Given the description of an element on the screen output the (x, y) to click on. 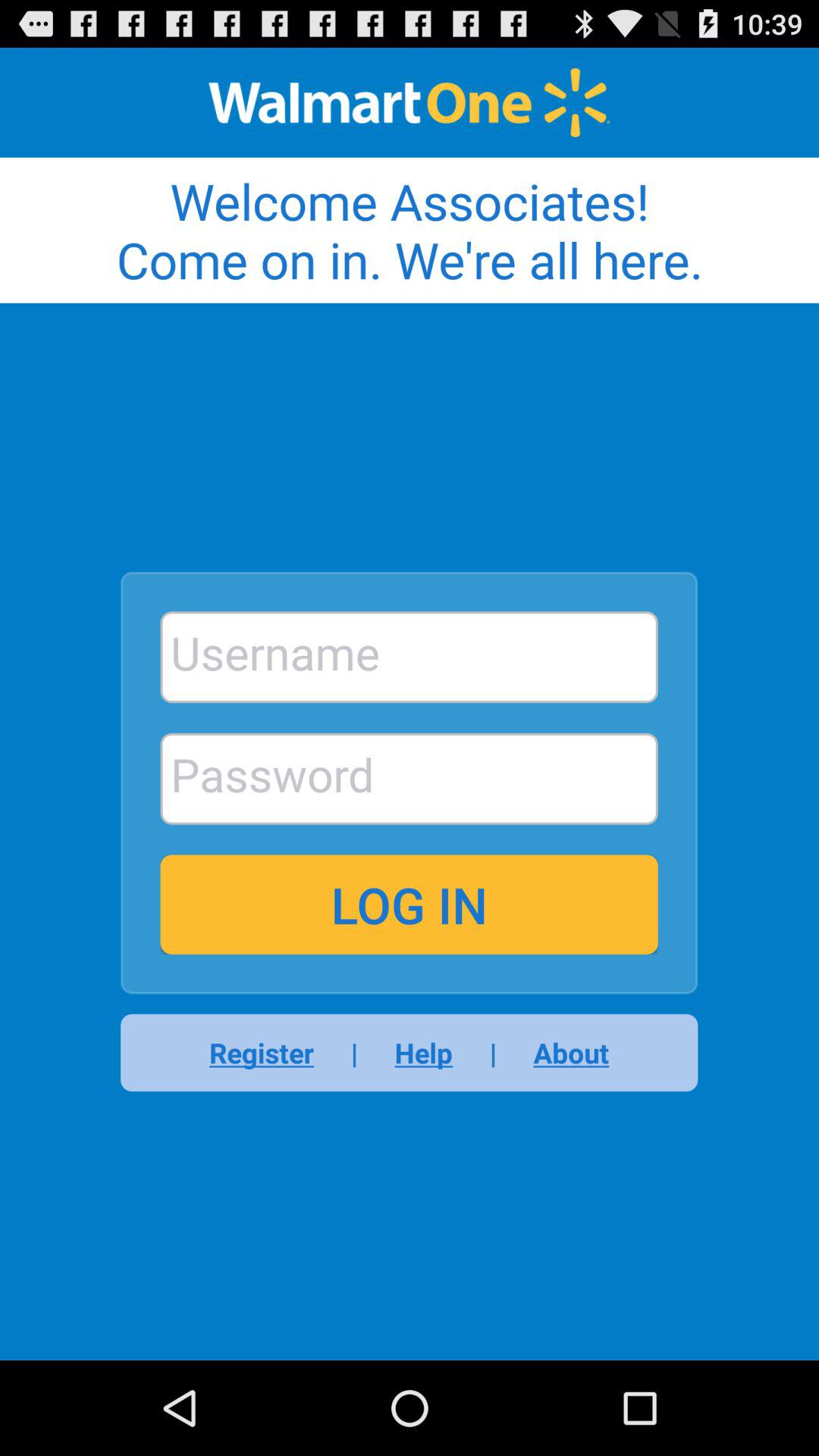
click about  item (560, 1052)
